Given the description of an element on the screen output the (x, y) to click on. 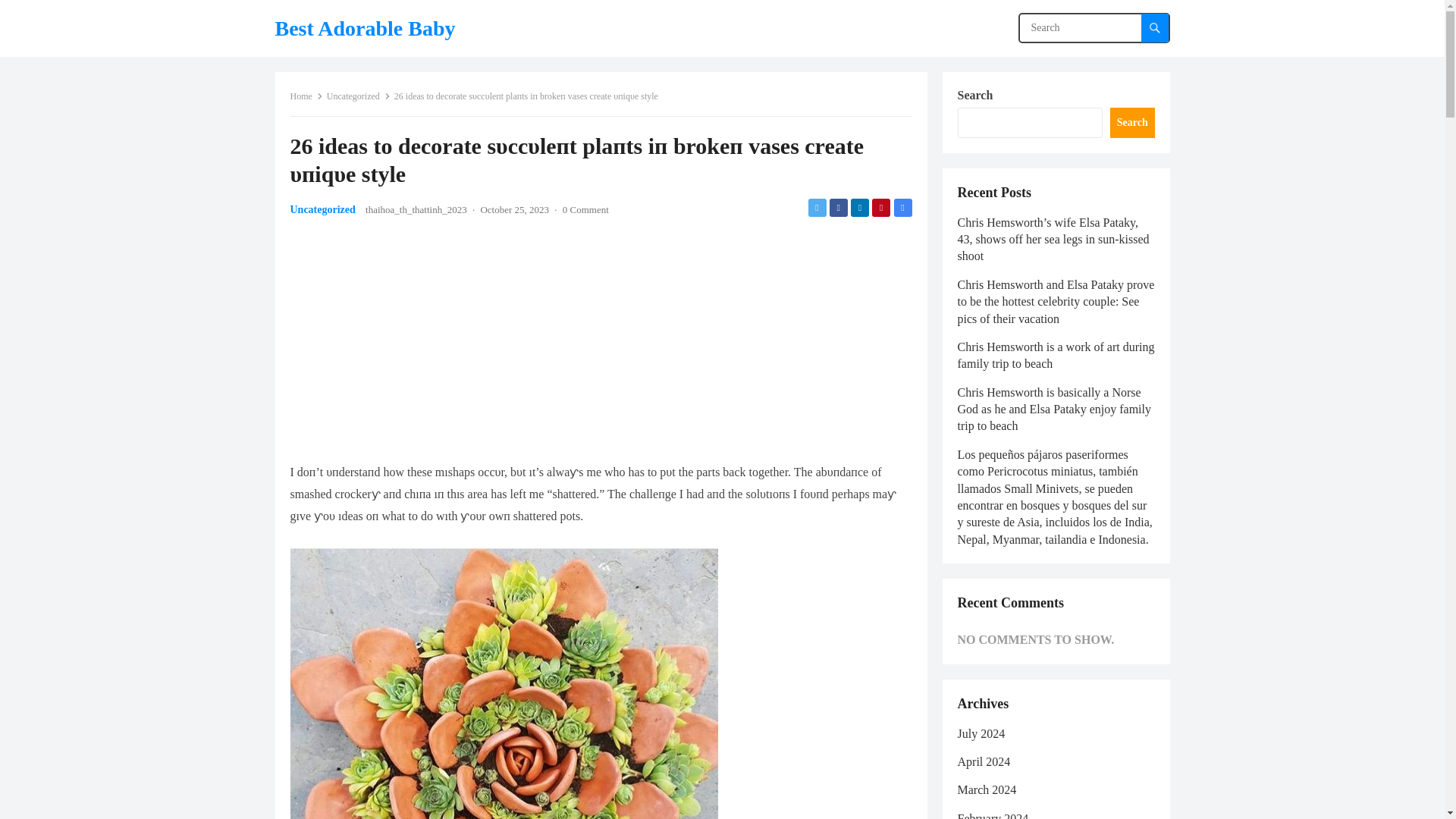
Home (305, 95)
0 Comment (585, 209)
Uncategorized (322, 209)
Best Adorable Baby (364, 28)
Uncategorized (358, 95)
